Given the description of an element on the screen output the (x, y) to click on. 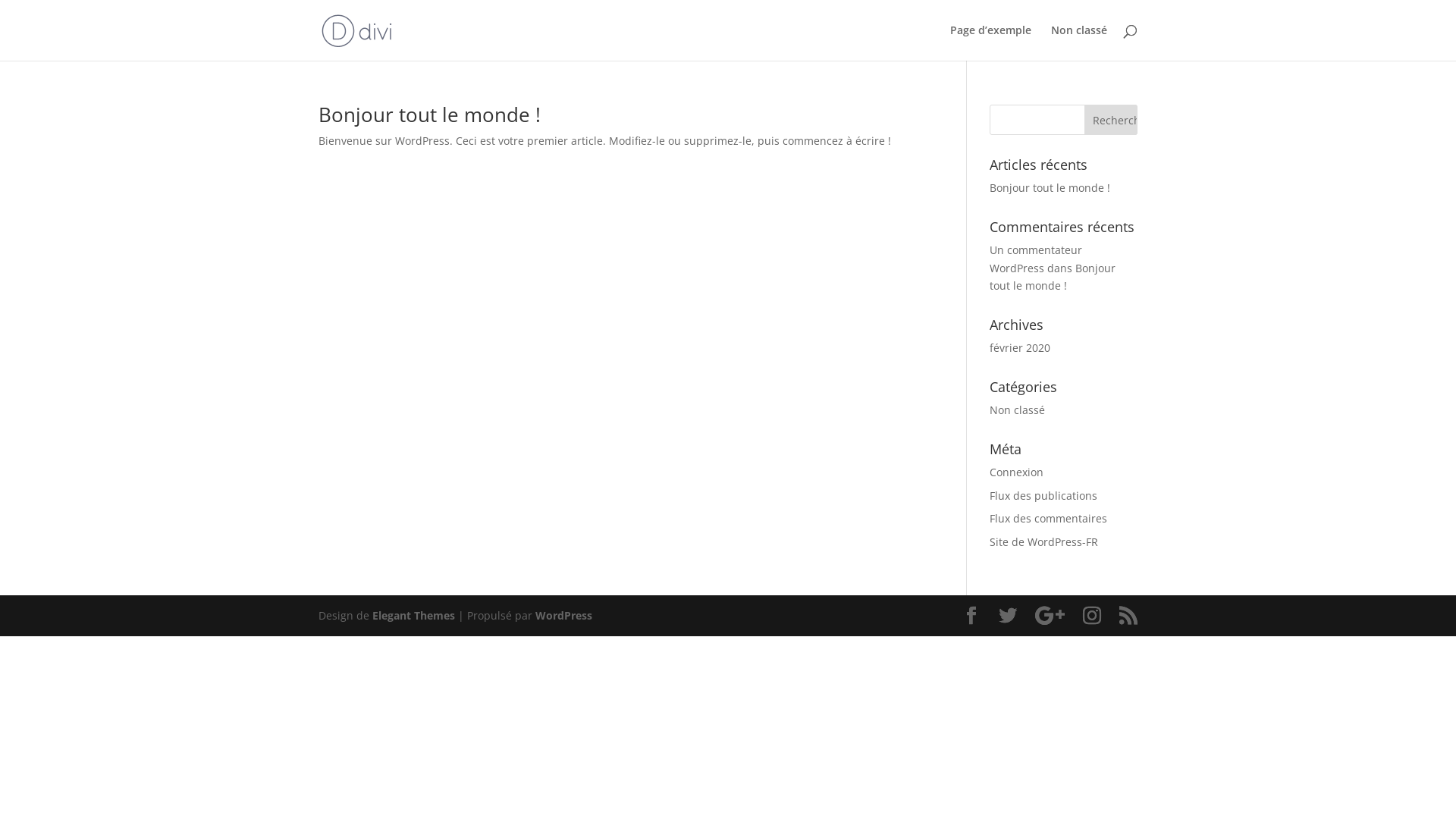
WordPress Element type: text (563, 615)
Bonjour tout le monde ! Element type: text (1049, 187)
Bonjour tout le monde ! Element type: text (429, 114)
Bonjour tout le monde ! Element type: text (1052, 276)
Flux des commentaires Element type: text (1048, 518)
Rechercher Element type: text (1110, 119)
Site de WordPress-FR Element type: text (1043, 541)
Flux des publications Element type: text (1043, 495)
Connexion Element type: text (1016, 471)
Un commentateur WordPress Element type: text (1035, 258)
Elegant Themes Element type: text (413, 615)
